Given the description of an element on the screen output the (x, y) to click on. 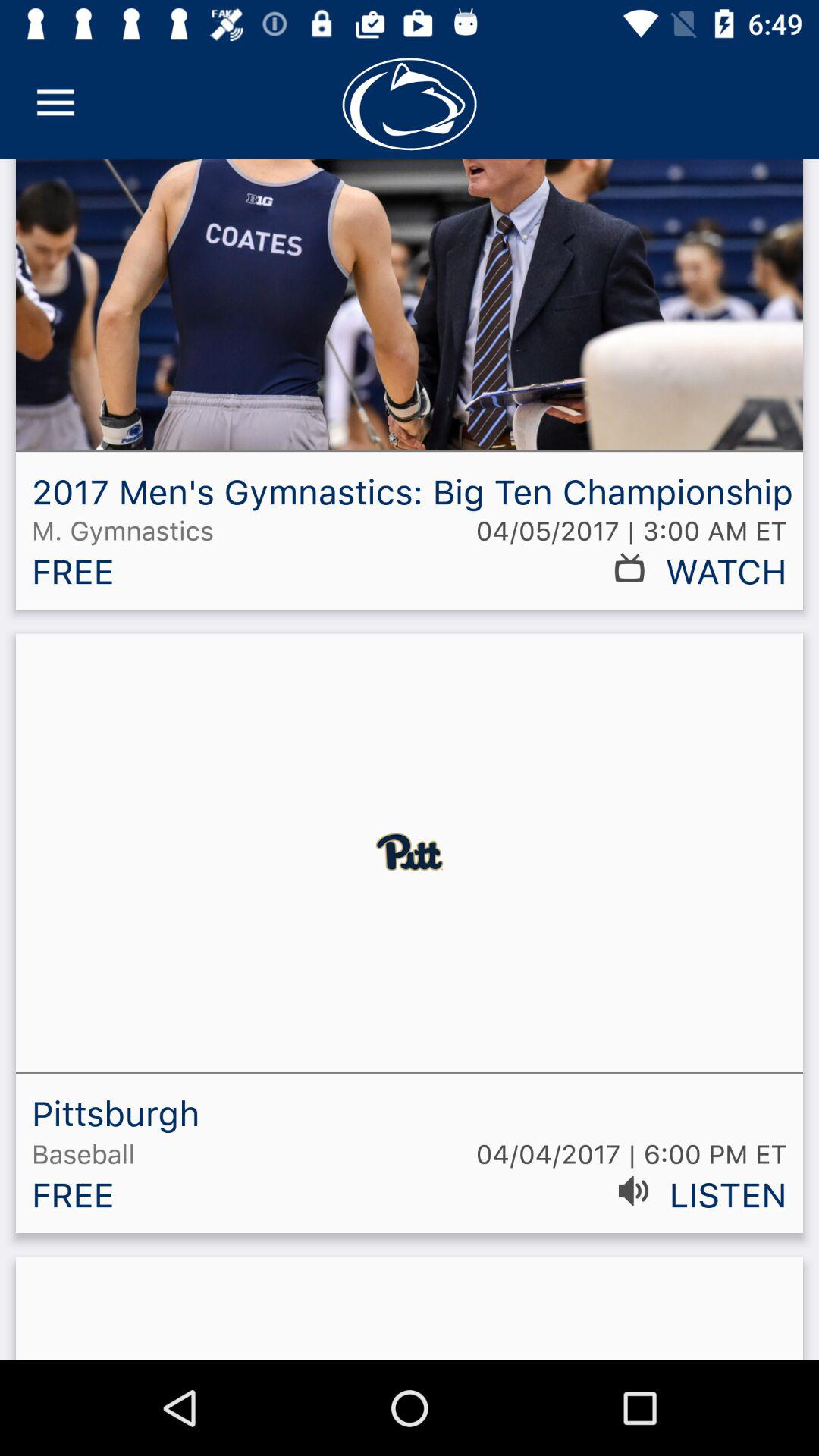
click on 2017 mens gymnasticsbig ten championship text (409, 389)
